Given the description of an element on the screen output the (x, y) to click on. 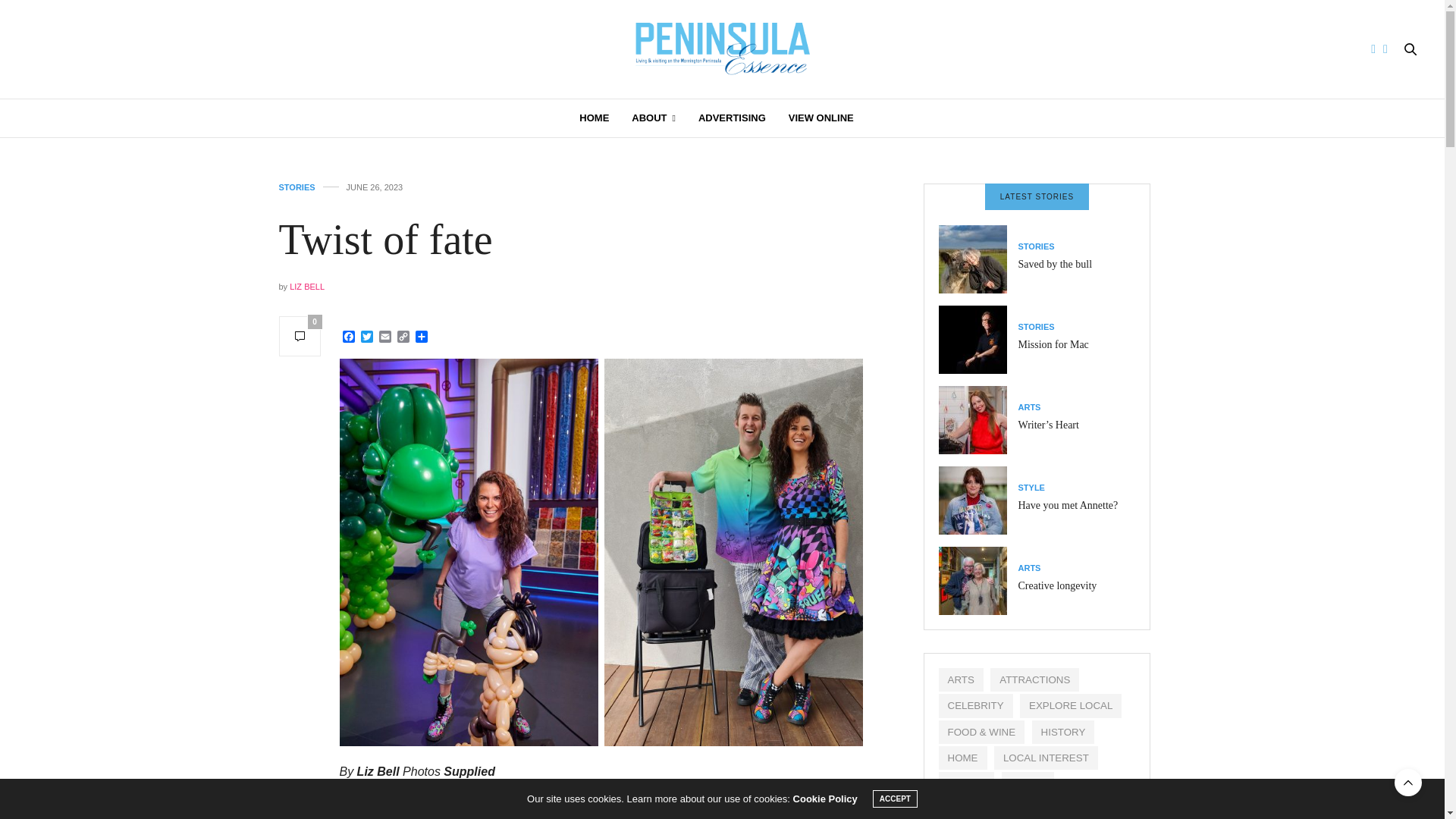
Twitter (366, 337)
Email (384, 337)
peninsula essence (721, 49)
STORIES (1035, 246)
Copy Link (403, 337)
ADVERTISING (731, 118)
Share (421, 337)
0 (299, 336)
Email (384, 337)
Facebook (348, 337)
Mission for Mac (1052, 344)
Copy Link (403, 337)
Facebook (348, 337)
VIEW ONLINE (821, 118)
Saved by the bull (978, 259)
